Given the description of an element on the screen output the (x, y) to click on. 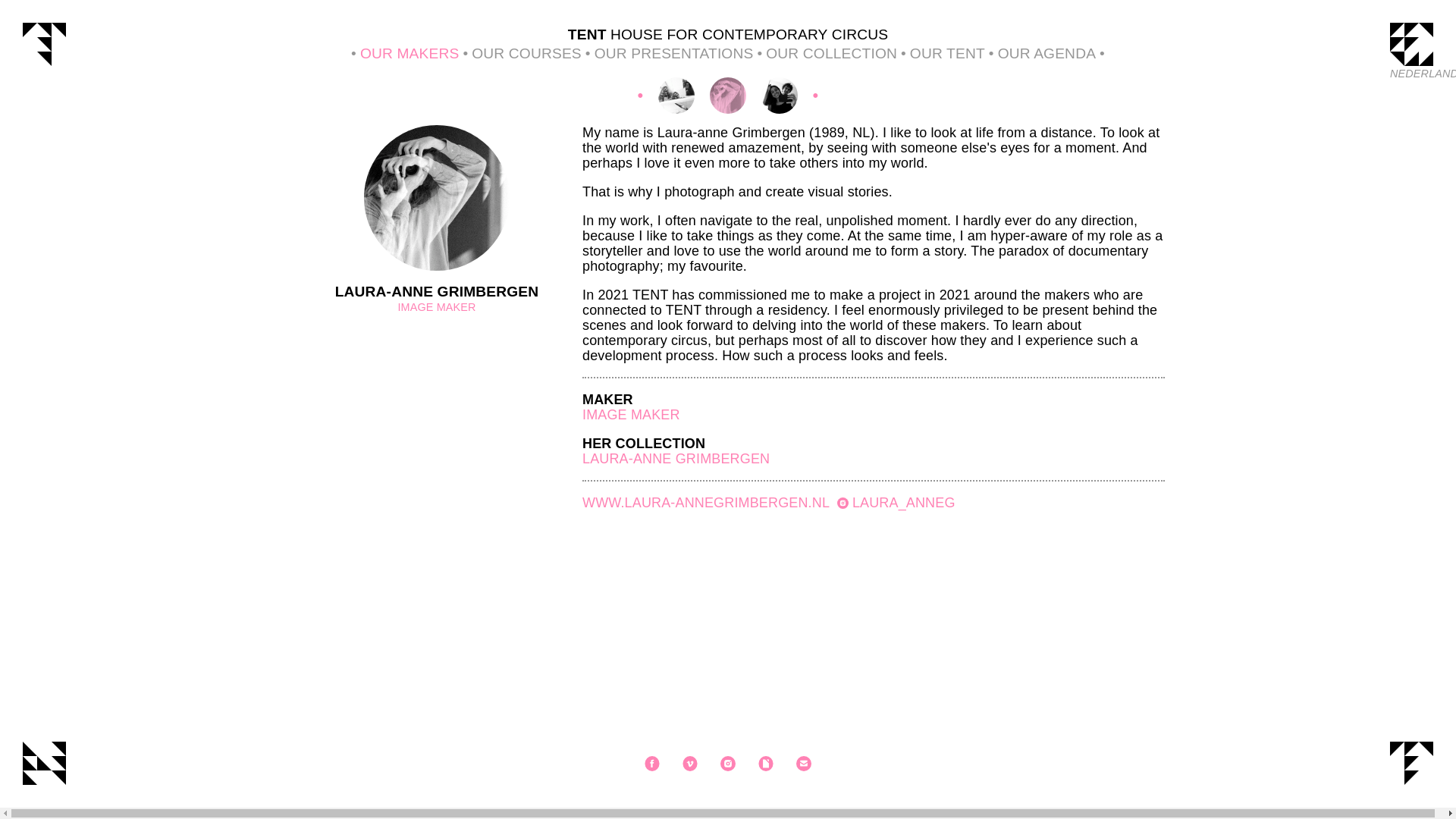
IMAGE MAKER (630, 414)
OUR AGENDA (1046, 53)
TENT HOUSE FOR CONTEMPORARY CIRCUS (727, 34)
OUR COURSES (519, 53)
Laura-anne Grimbergen (727, 94)
Sinking Sideways (676, 94)
OUR PRESENTATIONS (667, 53)
LAURA-ANNE GRIMBERGEN (676, 458)
OUR MAKERS (402, 53)
WWW.LAURA-ANNEGRIMBERGEN.NL (705, 502)
